Given the description of an element on the screen output the (x, y) to click on. 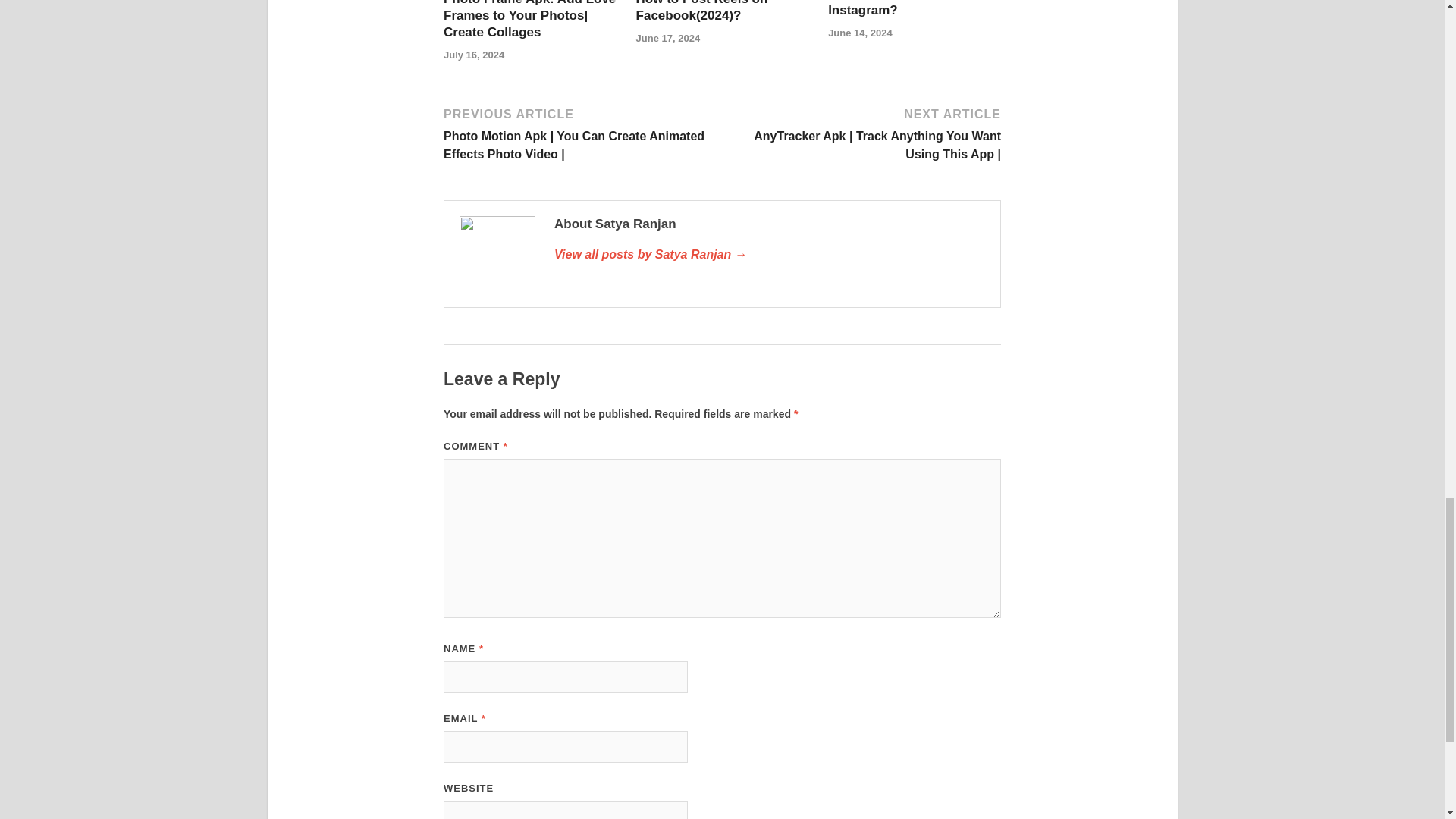
Satya Ranjan (769, 254)
How to Sell Products on Instagram? (902, 8)
How to Sell Products on Instagram? (902, 8)
